Given the description of an element on the screen output the (x, y) to click on. 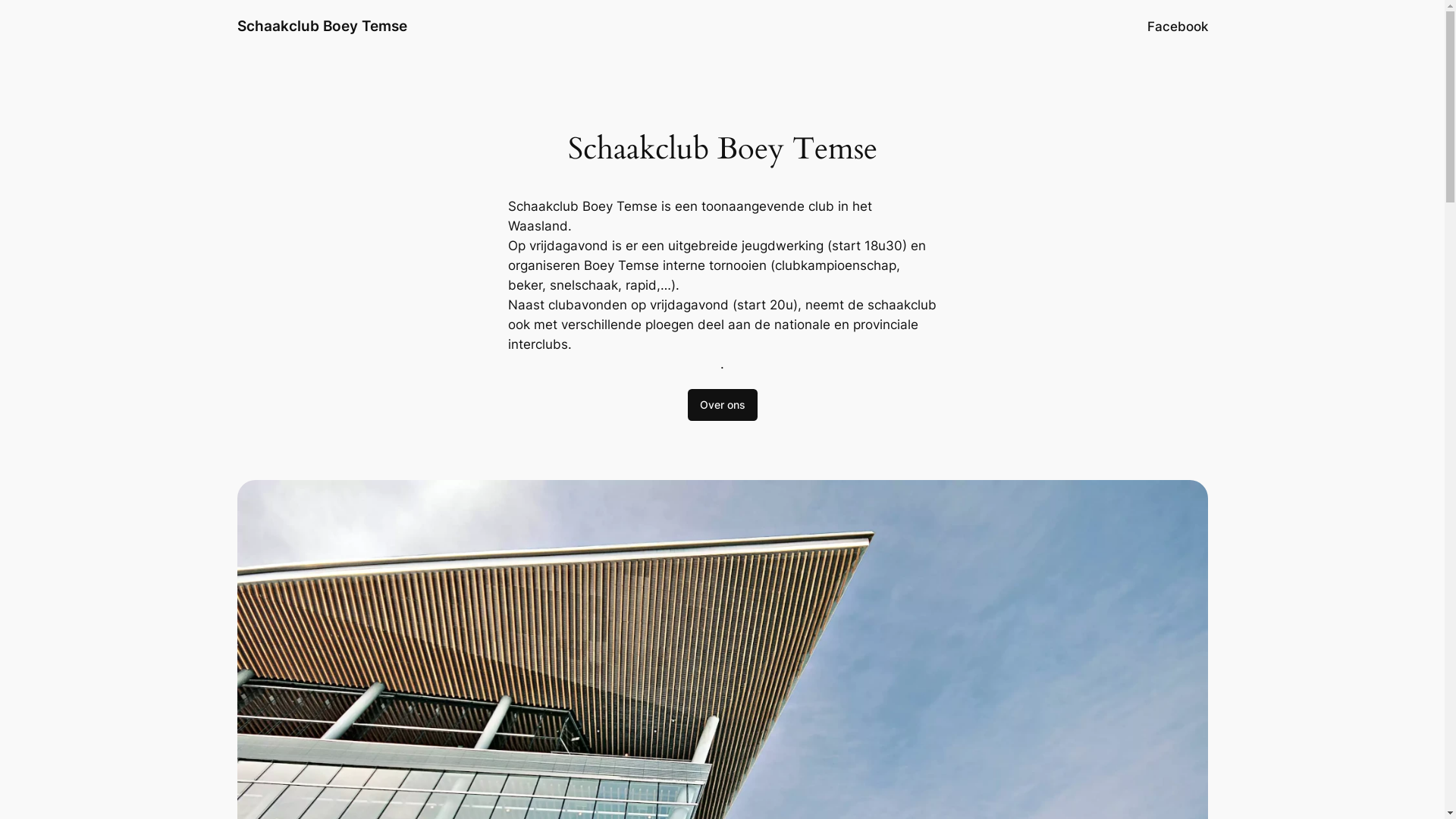
Schaakclub Boey Temse Element type: text (321, 25)
Facebook Element type: text (1176, 26)
Over ons Element type: text (721, 404)
